Given the description of an element on the screen output the (x, y) to click on. 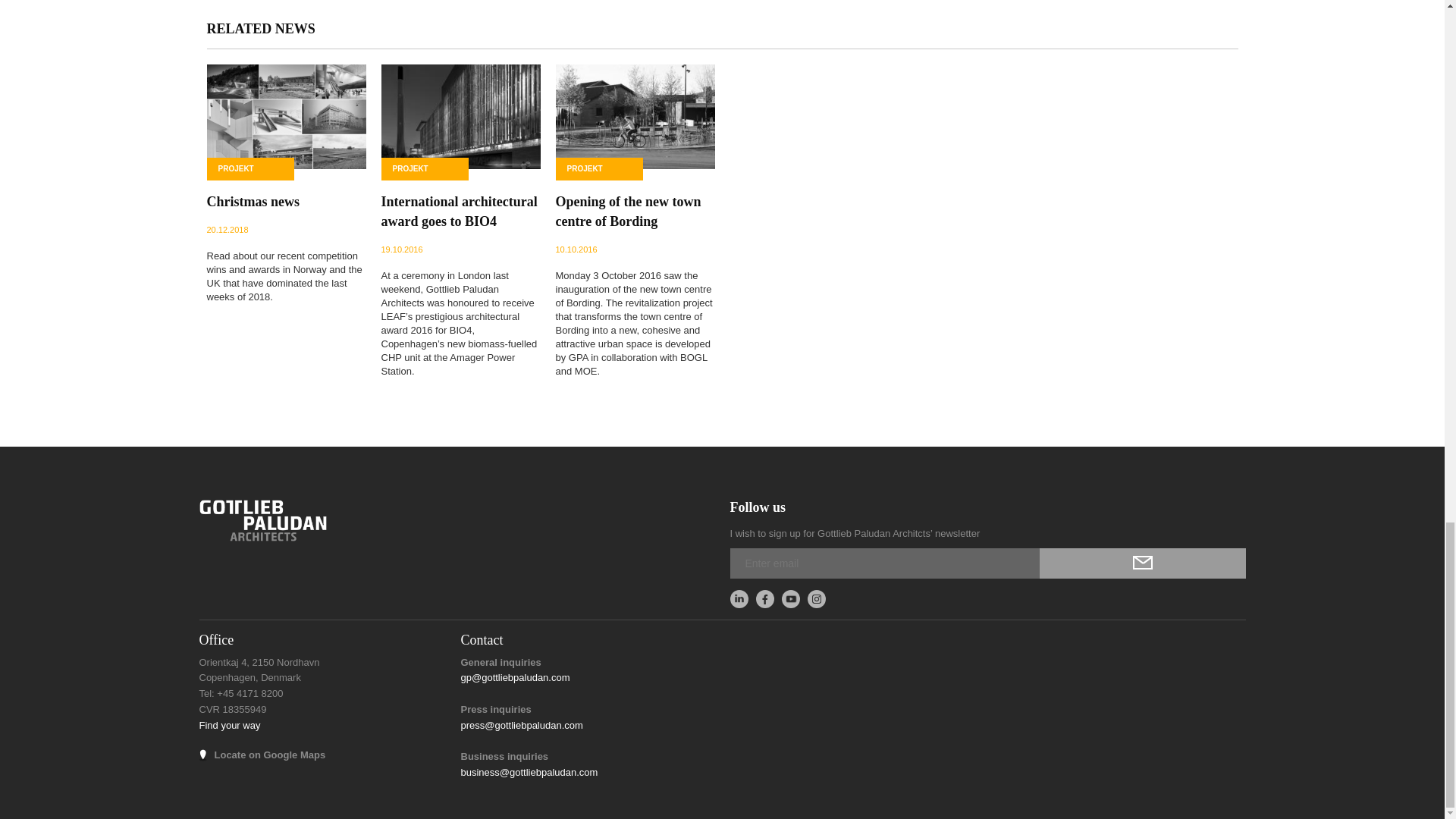
Youtube (789, 598)
Linkedin (738, 598)
Instagram (815, 598)
Facebook (764, 598)
